Given the description of an element on the screen output the (x, y) to click on. 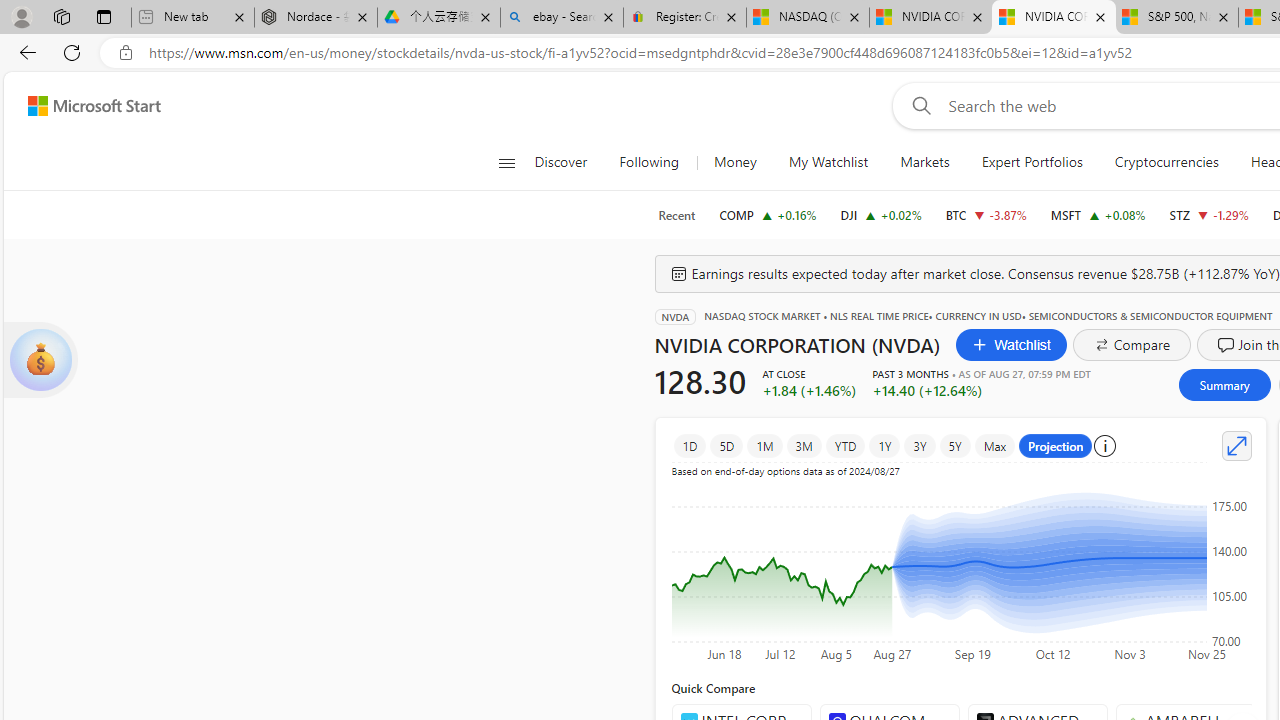
5D (726, 445)
My Watchlist (827, 162)
3M (803, 445)
5Y (955, 445)
Cryptocurrencies (1166, 162)
My Watchlist (828, 162)
Class: recharts-surface (960, 566)
